Given the description of an element on the screen output the (x, y) to click on. 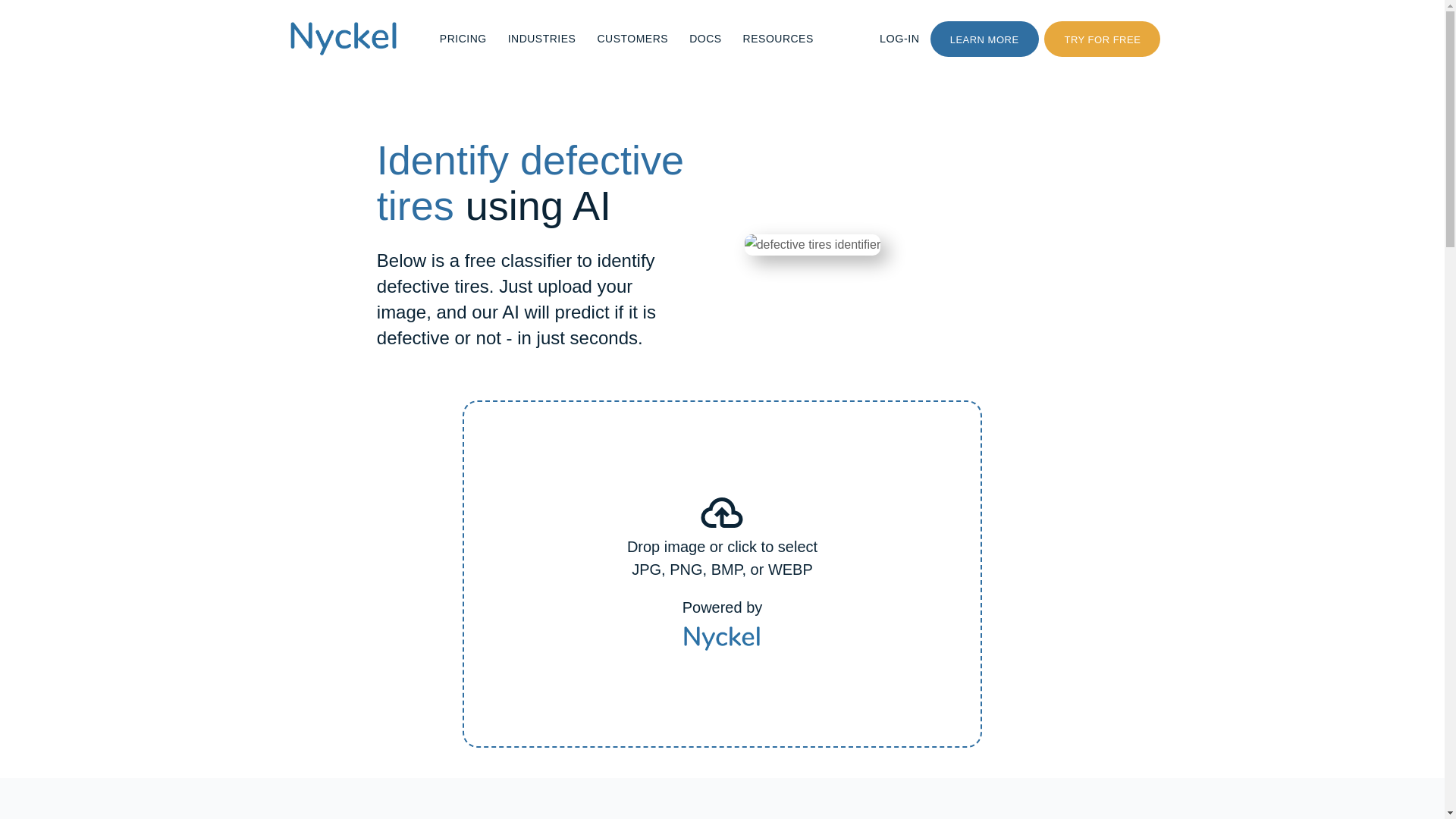
PRICING (463, 38)
LOG-IN (899, 38)
INDUSTRIES (541, 38)
CUSTOMERS (632, 38)
TRY FOR FREE (1101, 38)
RESOURCES (778, 38)
LEARN MORE (984, 38)
